Given the description of an element on the screen output the (x, y) to click on. 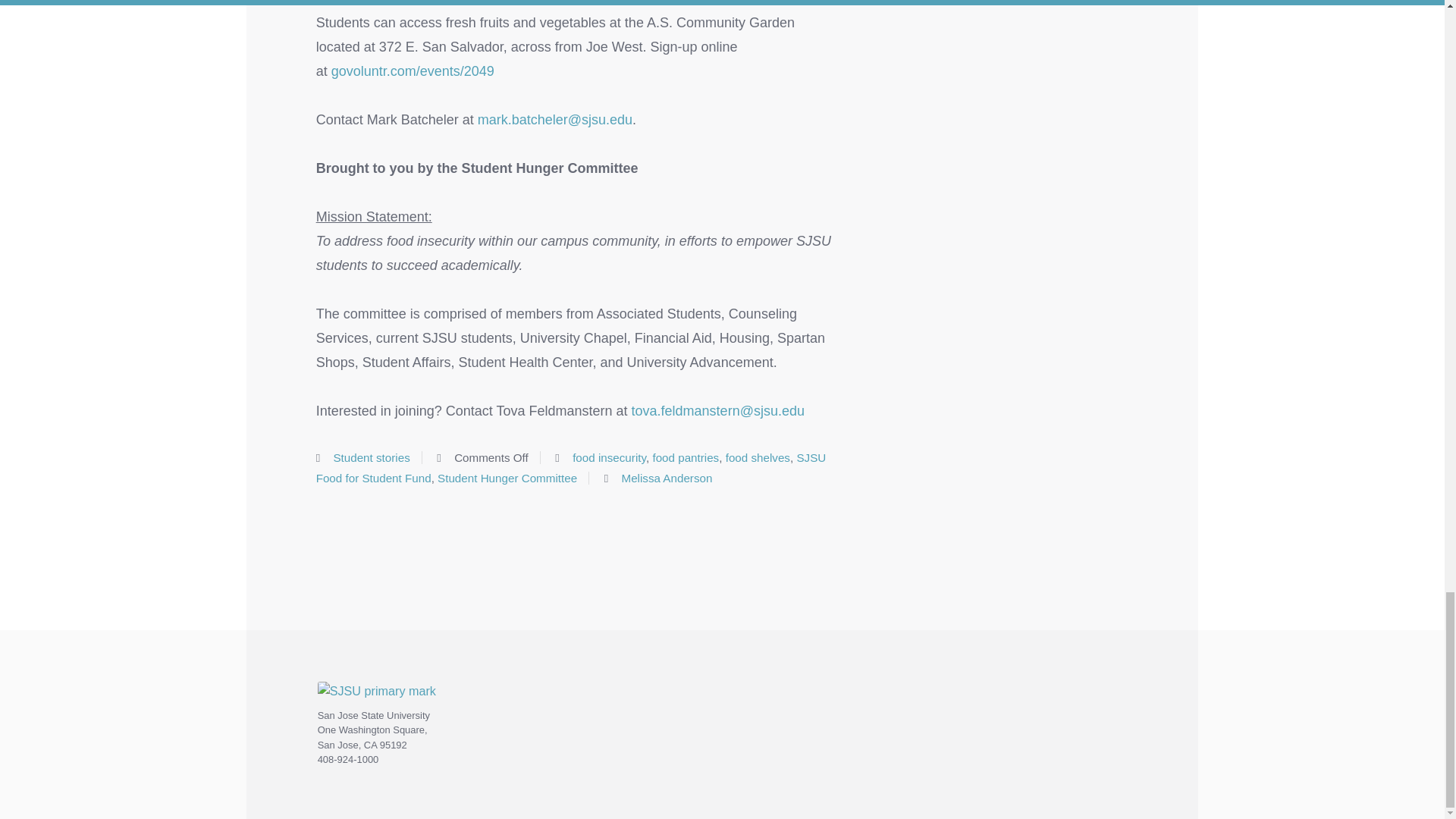
SJSU Food for Student Fund (571, 467)
Posts by Melissa Anderson (667, 477)
Student stories (371, 457)
food shelves (757, 457)
Student Hunger Committee (507, 477)
Melissa Anderson (667, 477)
food pantries (685, 457)
food insecurity (609, 457)
